Given the description of an element on the screen output the (x, y) to click on. 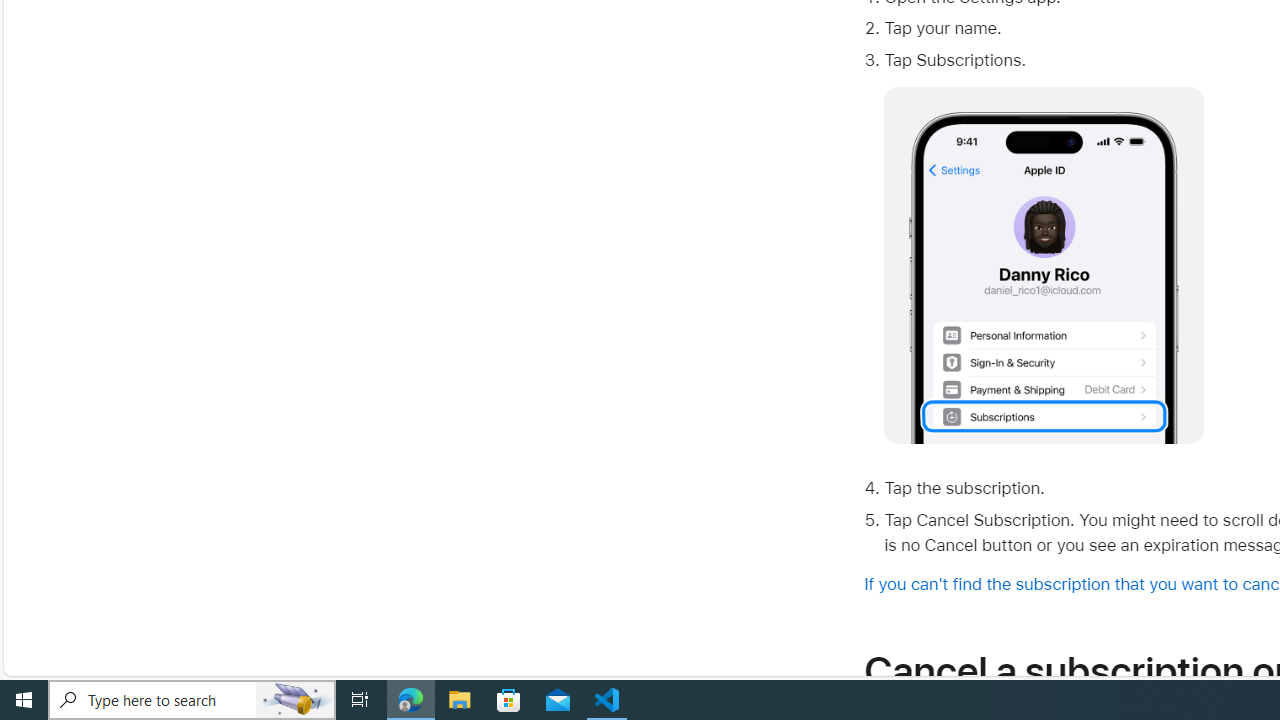
No alt supplied for Image (1044, 265)
